Given the description of an element on the screen output the (x, y) to click on. 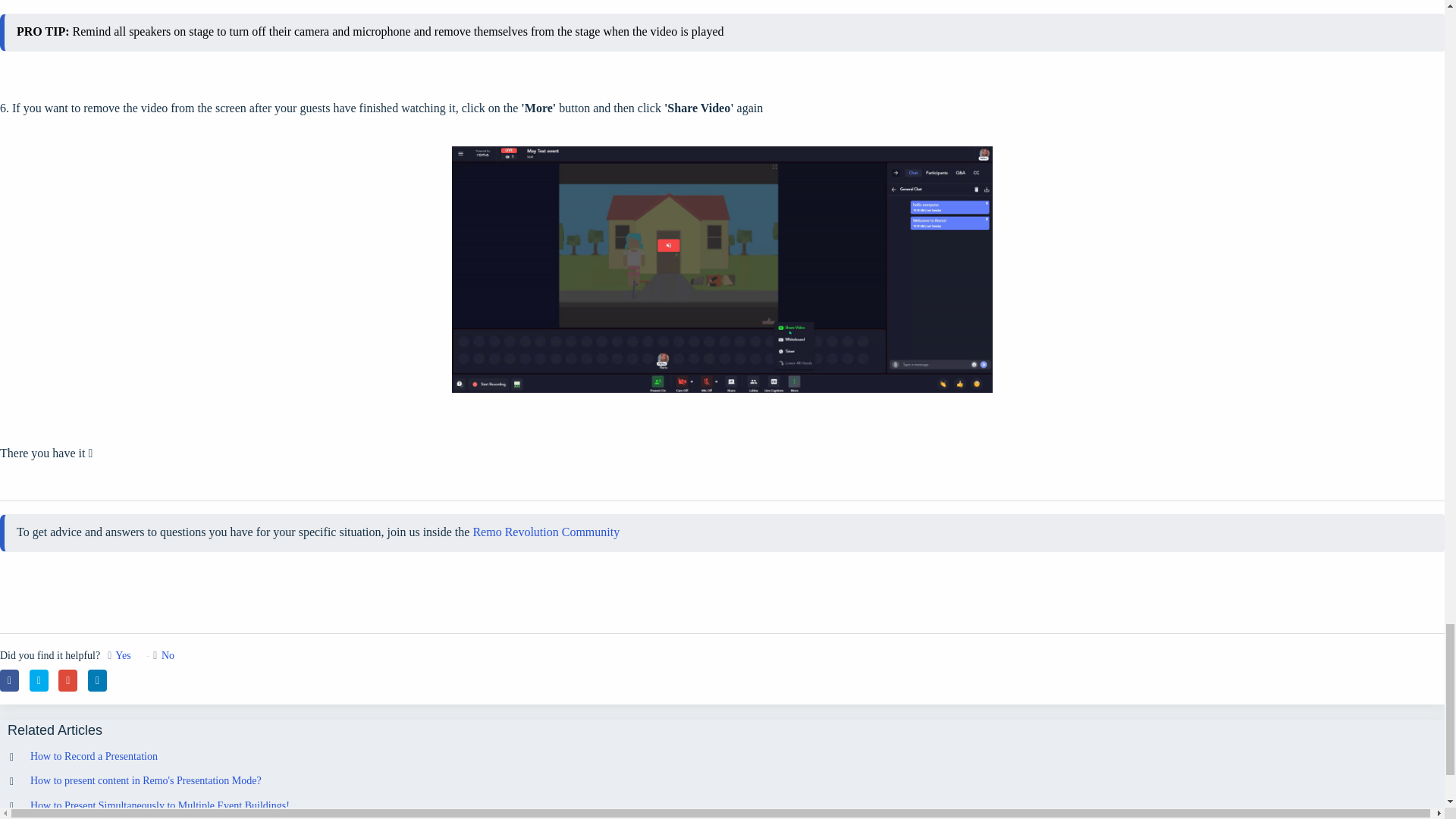
Remo Revolution Community (545, 532)
How to Present Simultaneously to Multiple Event Buildings! (159, 805)
How to present content in Remo's Presentation Mode? (146, 780)
How to Record a Presentation (93, 756)
